Given the description of an element on the screen output the (x, y) to click on. 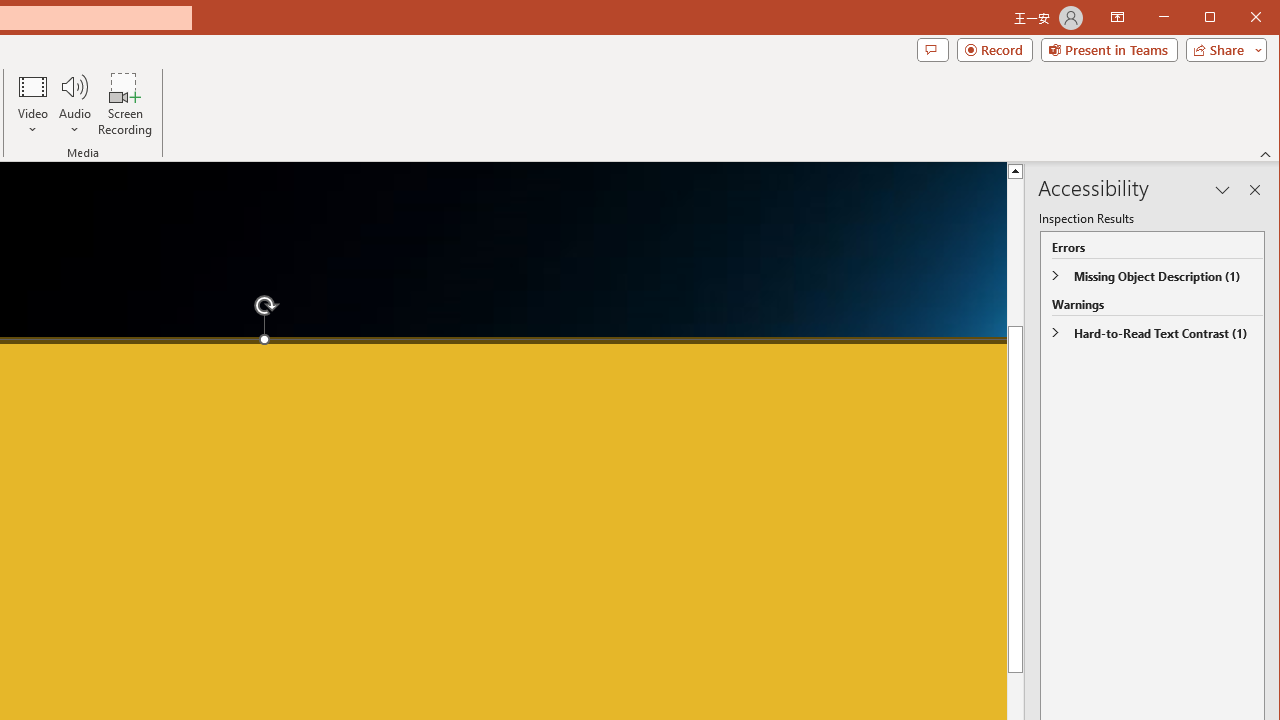
Screen Recording... (125, 104)
Video (32, 104)
